Given the description of an element on the screen output the (x, y) to click on. 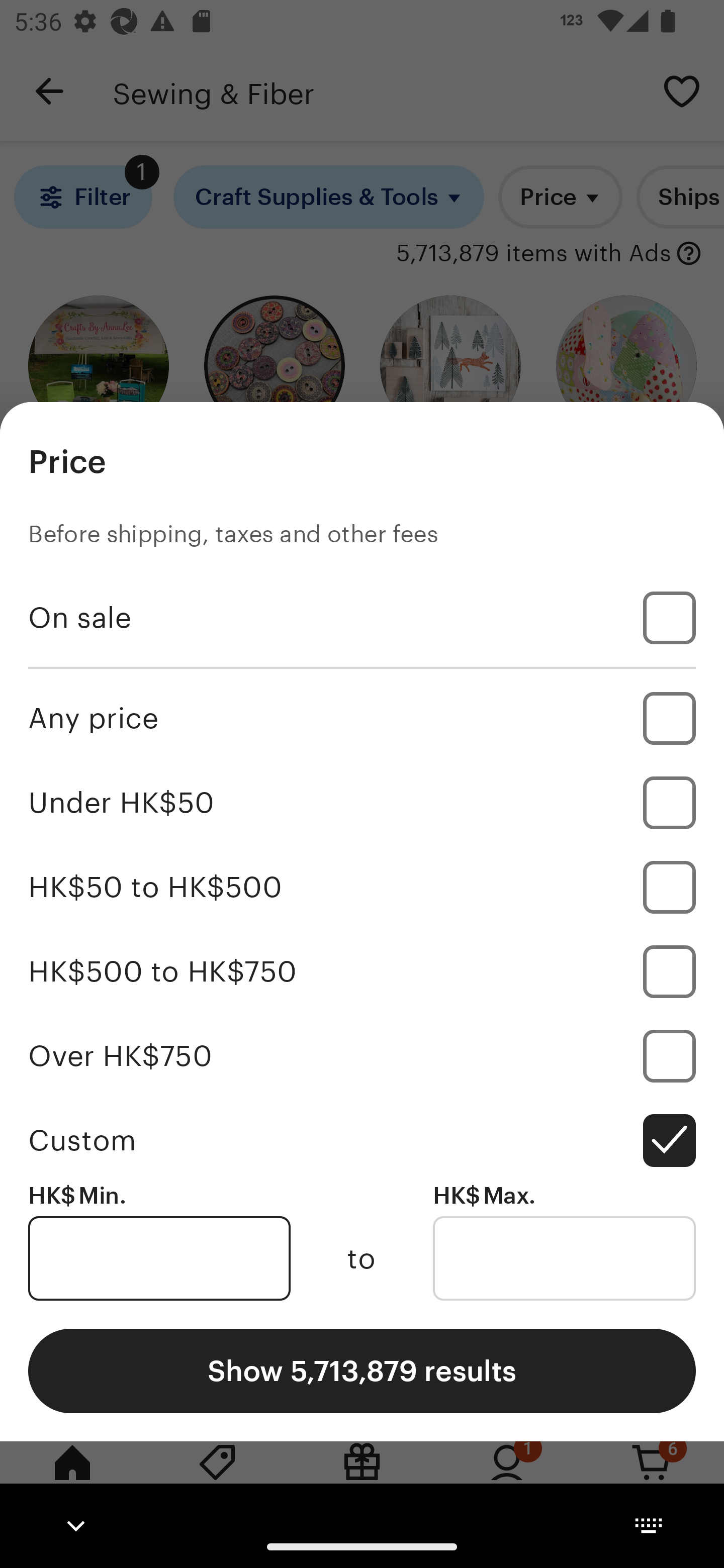
On sale (362, 617)
Any price (362, 717)
Under HK$50 (362, 802)
HK$50 to HK$500 (362, 887)
HK$500 to HK$750 (362, 970)
Over HK$750 (362, 1054)
Custom (362, 1139)
Show 5,713,879 results (361, 1370)
